Given the description of an element on the screen output the (x, y) to click on. 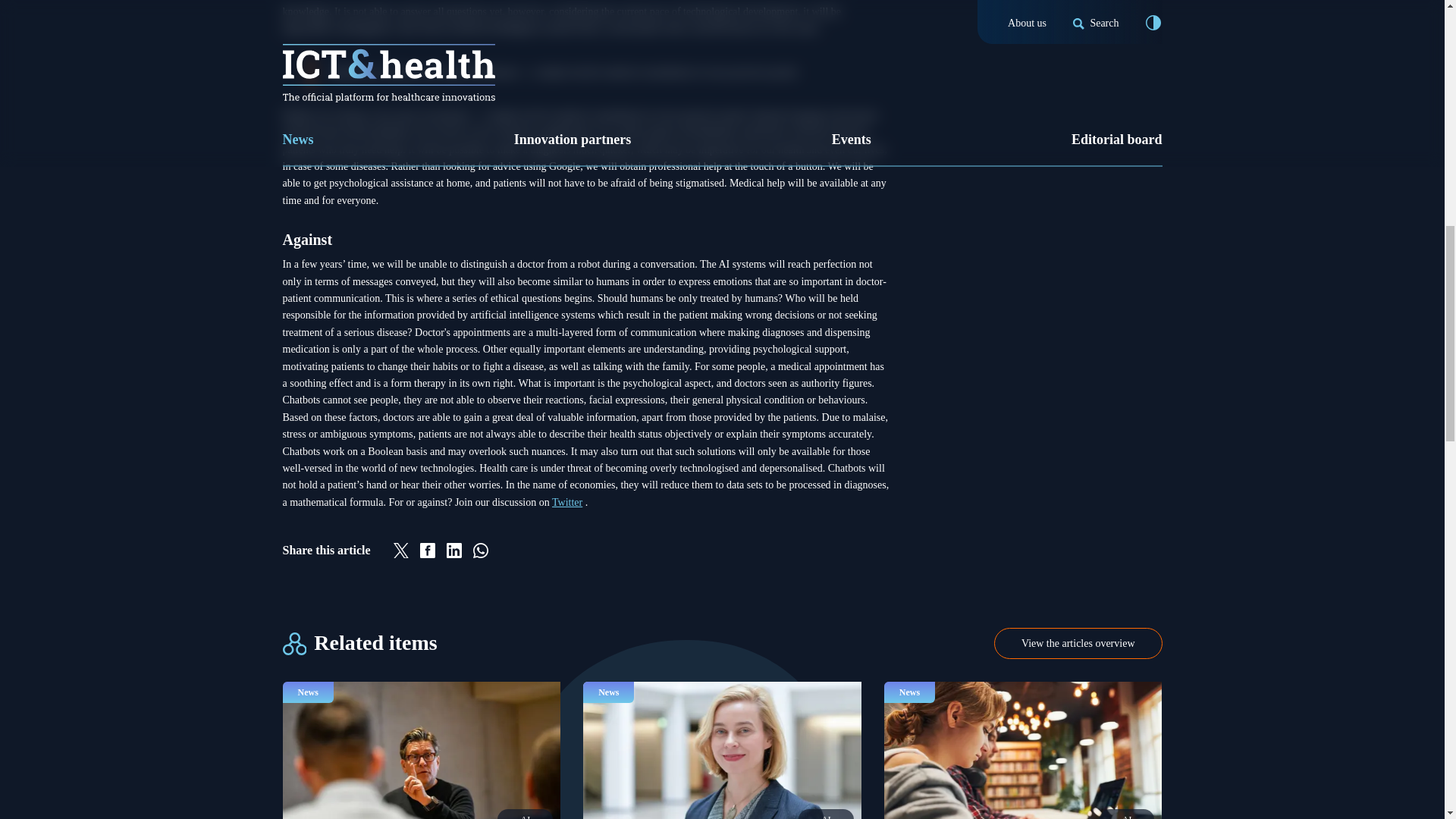
Share on X (401, 549)
Twitter (566, 501)
Share on LinkedIn (453, 549)
Share on WhatsApp (480, 549)
Share on Facebook (427, 549)
Share this article (585, 550)
View the articles overview (1077, 643)
